Given the description of an element on the screen output the (x, y) to click on. 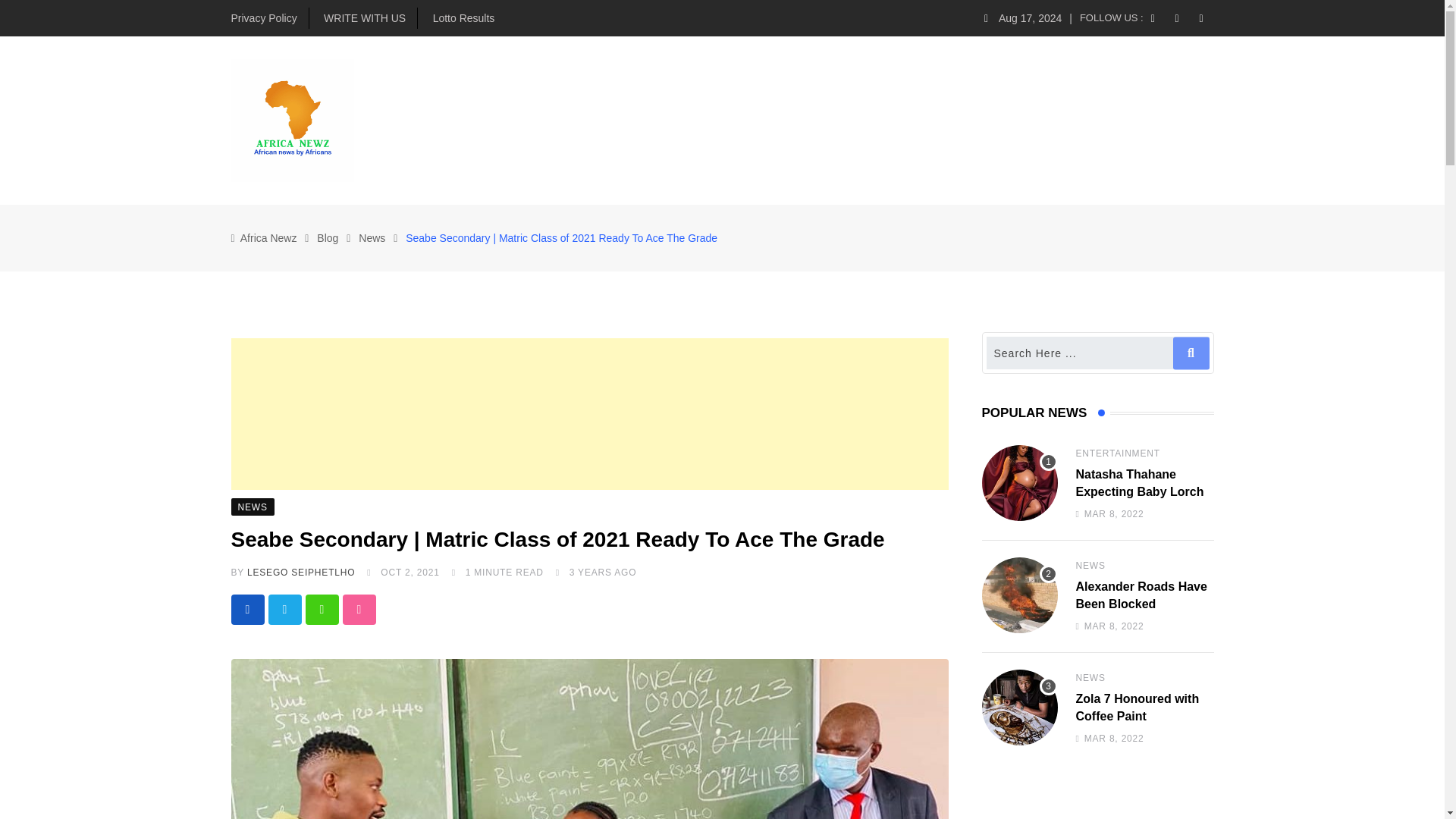
Privacy Policy (263, 18)
Advertisement (588, 413)
Technology (754, 120)
Posts by Lesego Seiphetlho (301, 572)
Wrestling (1007, 120)
Lotto Results (463, 18)
Business (599, 120)
Go to Blog. (327, 237)
Alexander Roads Have Been Blocked (1019, 595)
Career (931, 120)
